Given the description of an element on the screen output the (x, y) to click on. 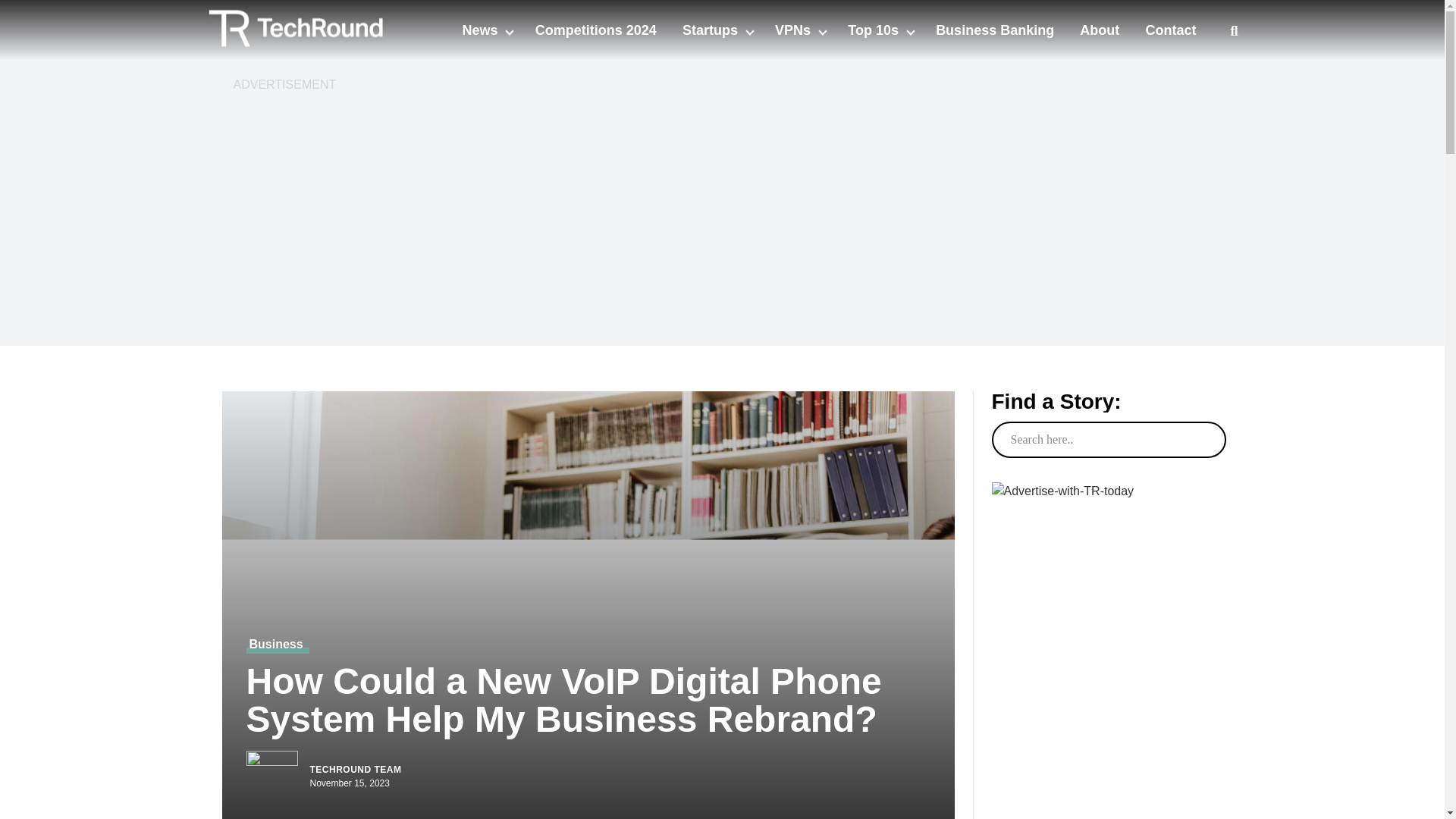
News (480, 30)
Top 10s (874, 30)
Competitions 2024 (596, 30)
VPNs (793, 30)
Startups (711, 30)
